Given the description of an element on the screen output the (x, y) to click on. 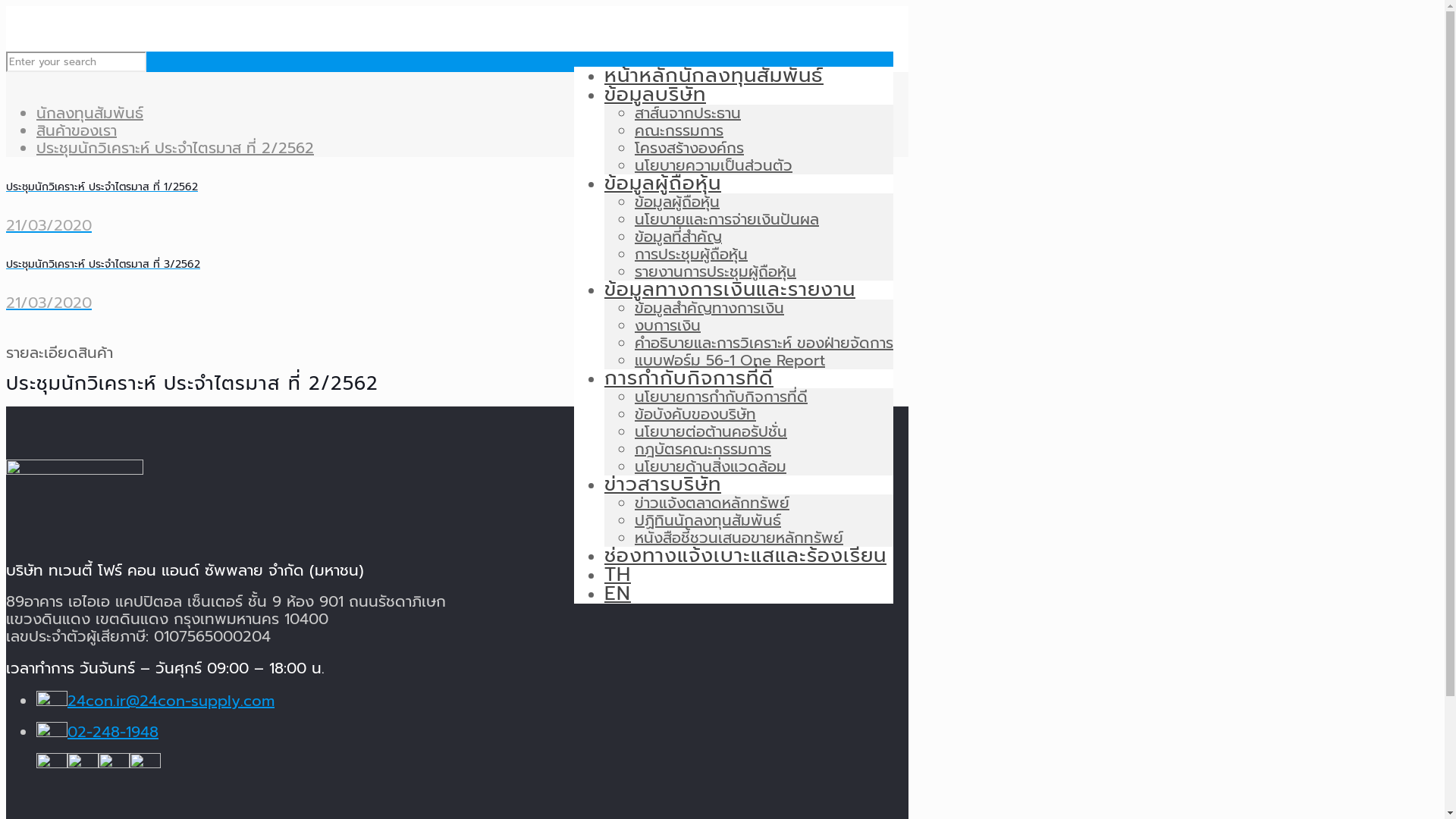
24con.ir@24con-supply.com Element type: text (170, 700)
02-248-1948 Element type: text (112, 731)
EN Element type: text (617, 593)
TH Element type: text (617, 574)
